Given the description of an element on the screen output the (x, y) to click on. 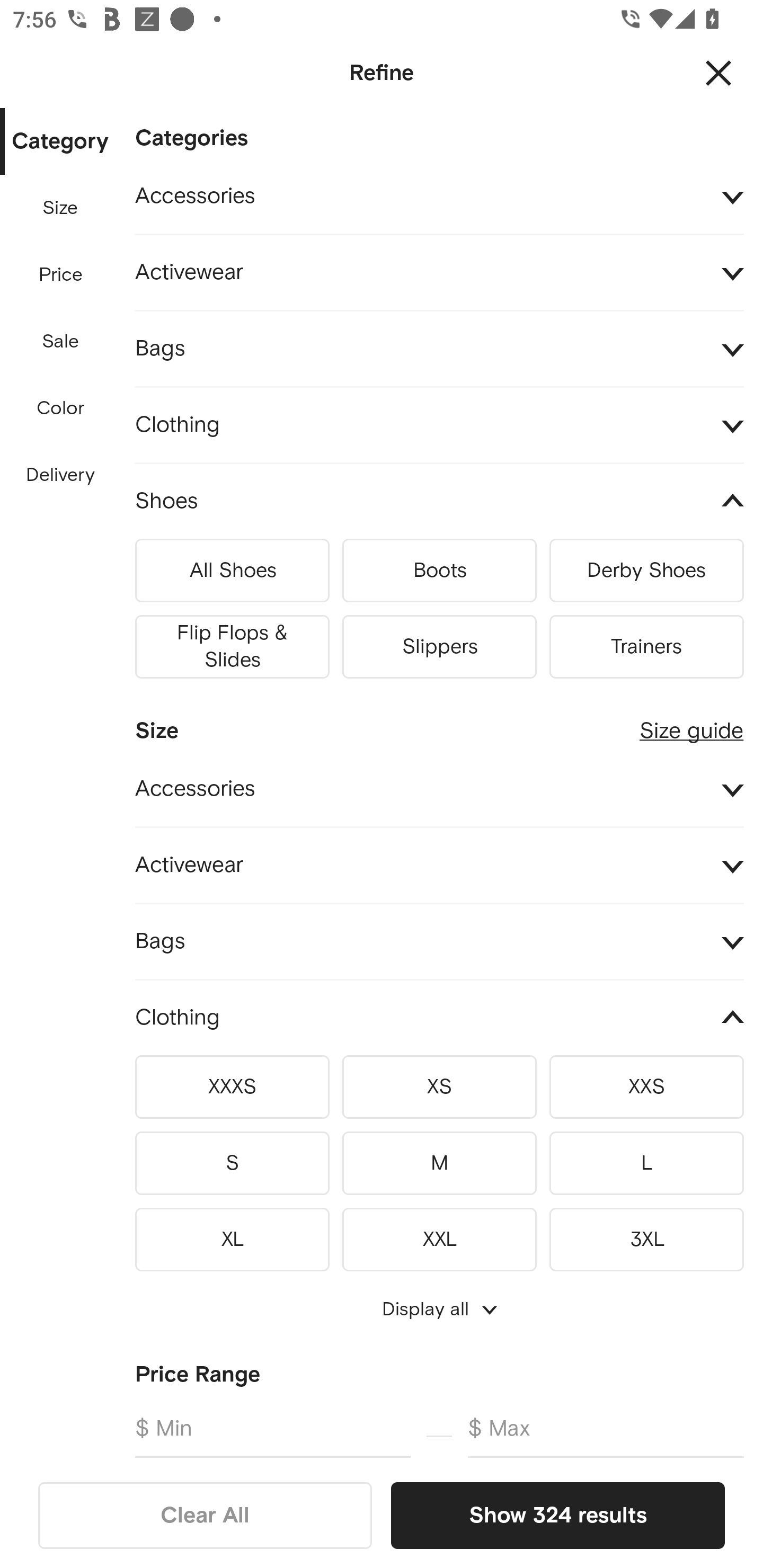
Category (60, 141)
Accessories (439, 196)
Size (60, 208)
Activewear (439, 272)
Price (60, 274)
Sale (60, 342)
Bags (439, 348)
Color (60, 408)
Clothing (439, 425)
Delivery (60, 475)
Shoes (439, 501)
All Shoes (232, 570)
Boots (439, 570)
Derby Shoes (646, 570)
Flip Flops & Slides (232, 646)
Slippers (439, 646)
Trainers (646, 646)
Size guide (691, 723)
Accessories (439, 789)
Activewear (439, 865)
Bags (439, 941)
Clothing (439, 1018)
XXXS (232, 1086)
XS (439, 1086)
XXS (646, 1086)
S (232, 1163)
M (439, 1163)
L (646, 1163)
XL (232, 1236)
XXL (439, 1236)
3XL (646, 1236)
Display all (439, 1308)
$ Min (272, 1430)
$ Max (605, 1430)
Clear All (205, 1515)
Show 324 results (557, 1515)
